Given the description of an element on the screen output the (x, y) to click on. 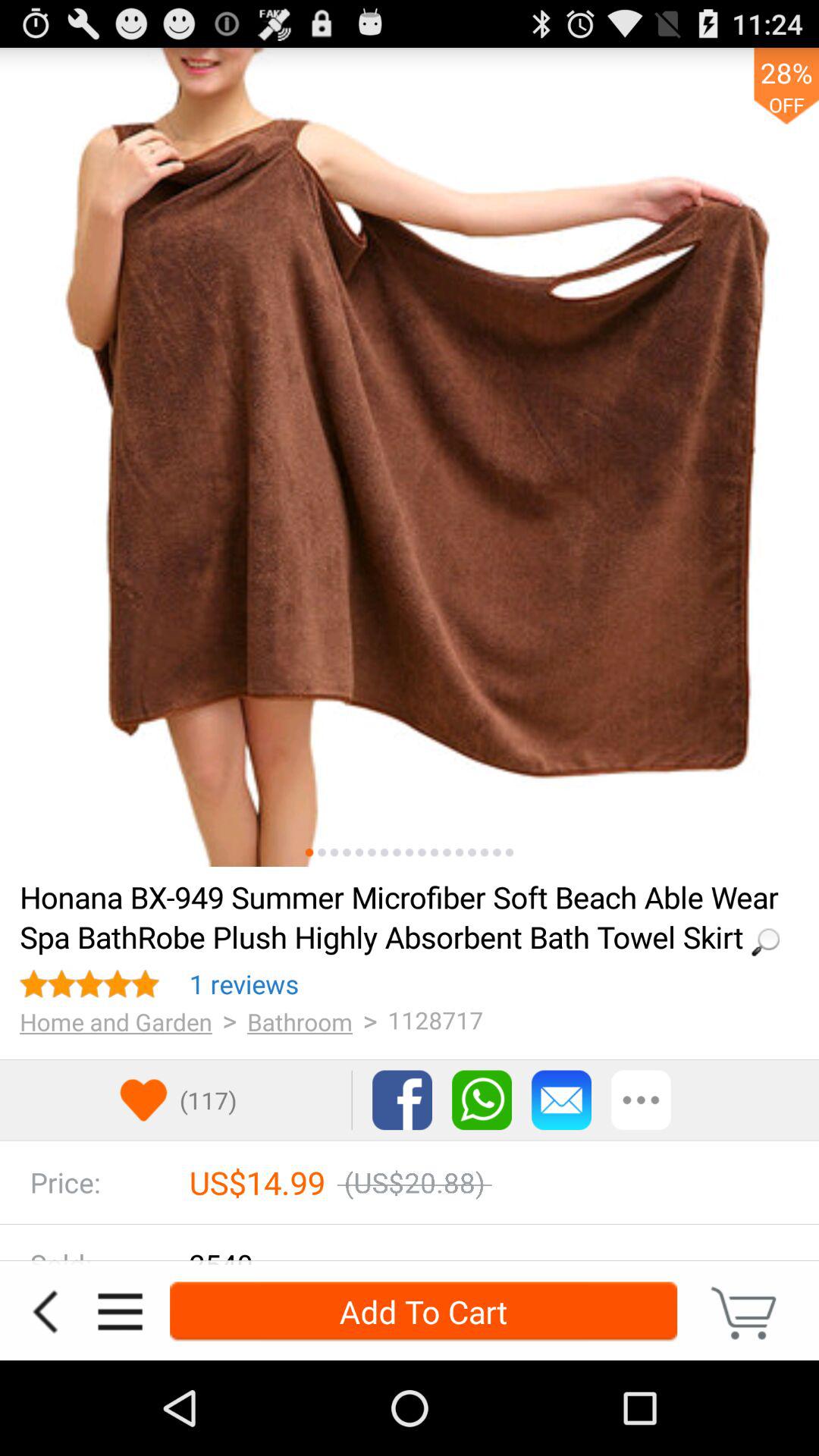
view picture (472, 852)
